Given the description of an element on the screen output the (x, y) to click on. 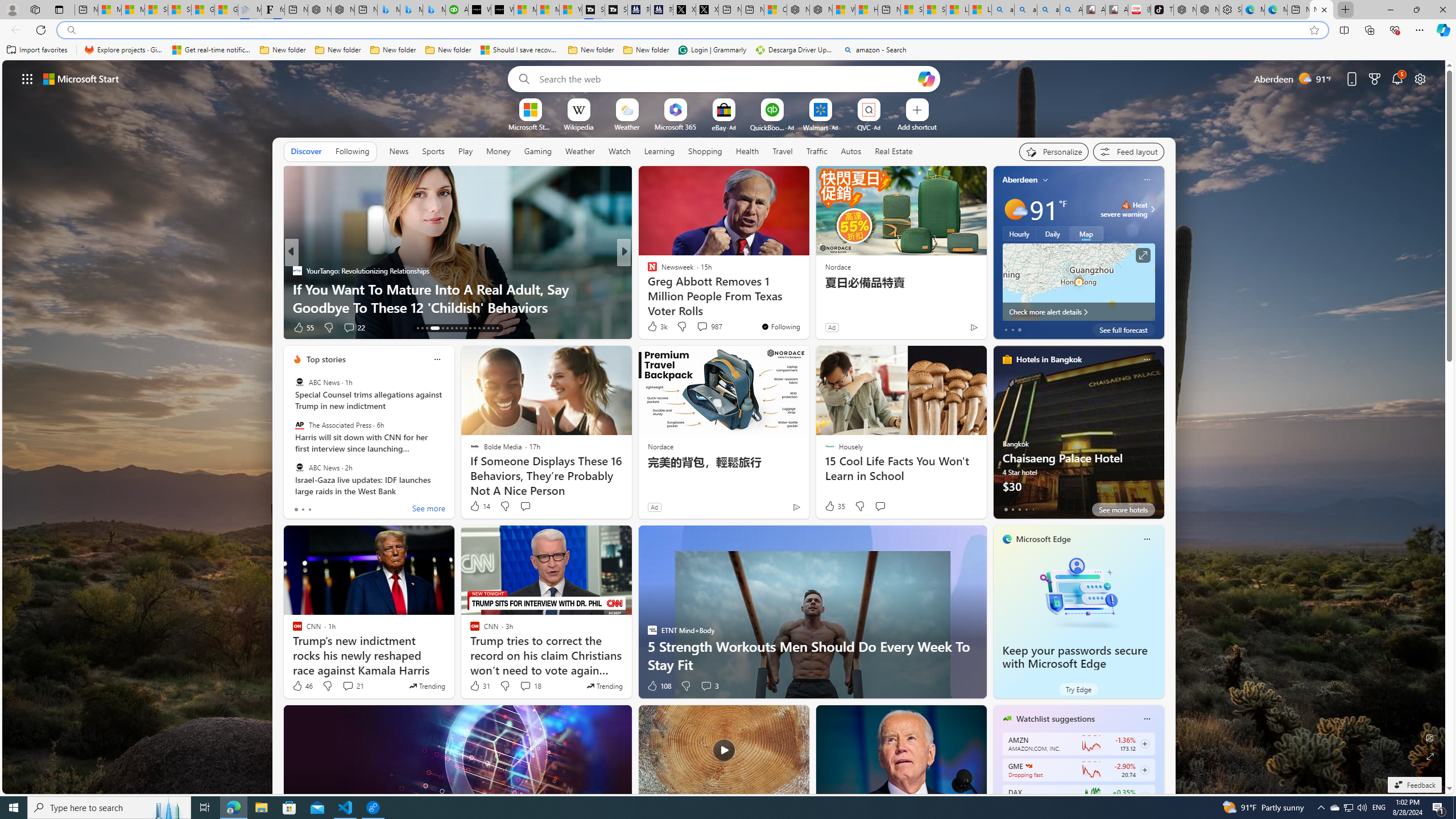
Weather (579, 151)
Sports (432, 151)
hotels-header-icon (1006, 358)
AutomationID: tab-25 (478, 328)
View comments 22 Comment (703, 327)
Health (746, 151)
View comments 17 Comment (707, 327)
All Cubot phones (1116, 9)
tab-3 (1025, 509)
